Given the description of an element on the screen output the (x, y) to click on. 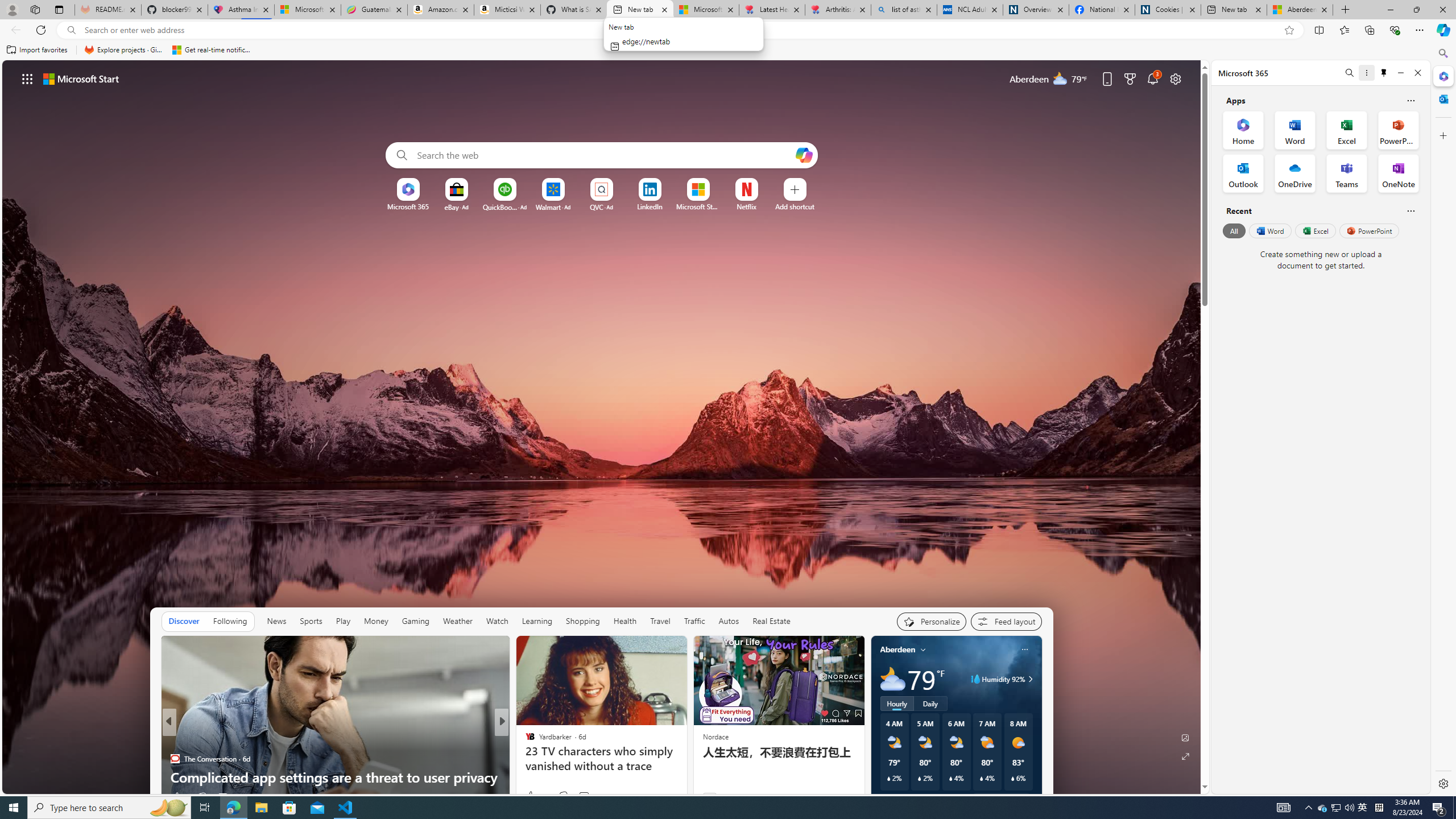
Microsoft-Report a Concern to Bing (307, 9)
Class: weather-current-precipitation-glyph (1012, 778)
77 Like (530, 796)
Daily (929, 703)
Import favorites (36, 49)
View comments 25 Comment (582, 796)
47 Like (530, 796)
43 Like (530, 796)
Health (624, 621)
Real Estate (771, 621)
View comments 46 Comment (588, 795)
Word (1269, 230)
Inverse (524, 740)
View comments 46 Comment (583, 795)
